Given the description of an element on the screen output the (x, y) to click on. 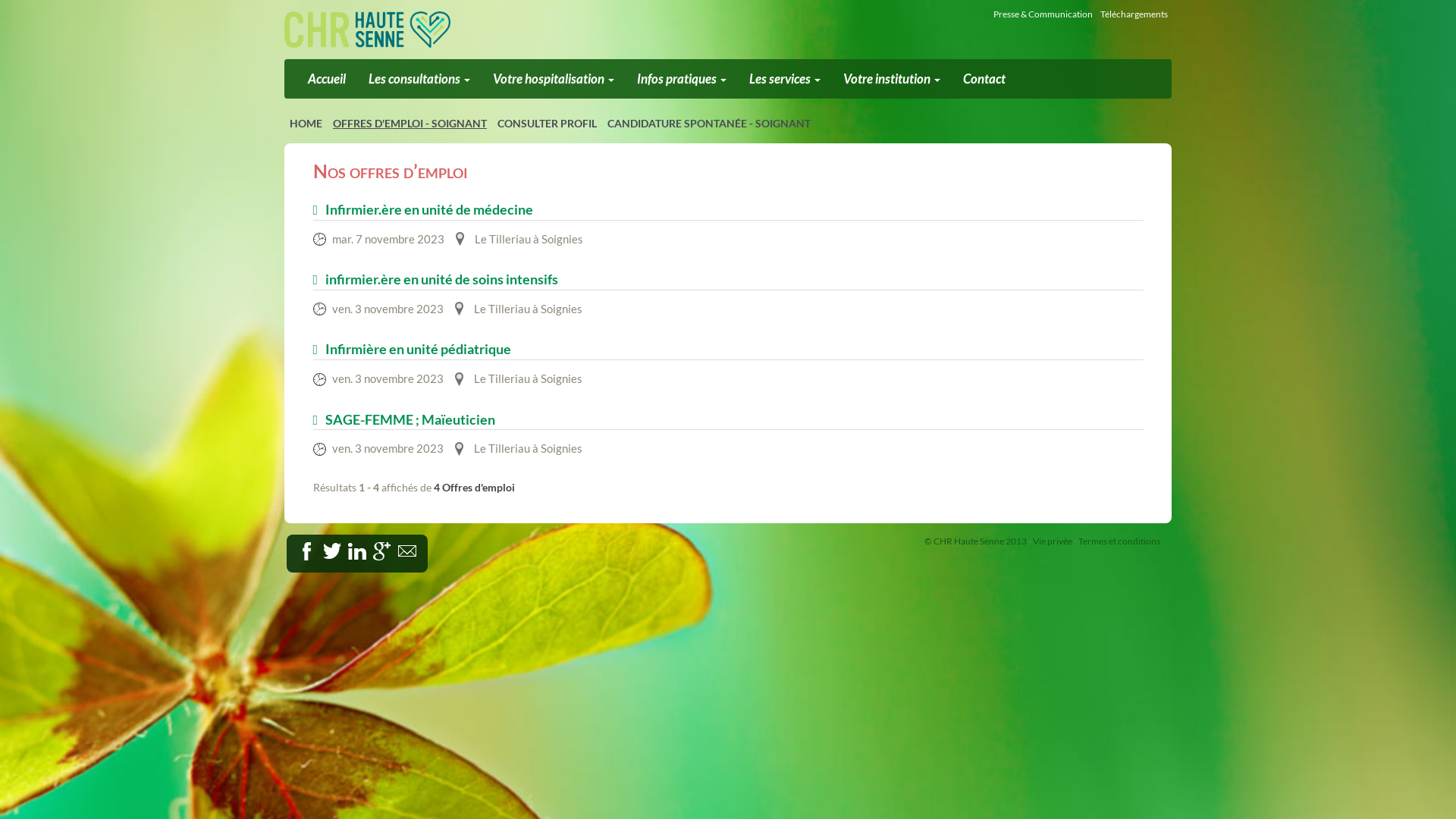
Email Element type: hover (422, 548)
Facebook Element type: hover (307, 551)
Termes et conditions Element type: text (1119, 540)
Facebook Element type: hover (322, 548)
Votre hospitalisation Element type: text (553, 78)
Twitter Element type: hover (347, 548)
HOME Element type: text (305, 123)
Contact Element type: text (983, 78)
OFFRES D'EMPLOI - SOIGNANT Element type: text (409, 123)
Tweet Element type: hover (332, 551)
Votre institution Element type: text (891, 78)
Google+ Element type: hover (382, 551)
Les consultations Element type: text (419, 78)
Accueil Element type: text (326, 78)
Google+ Element type: hover (397, 548)
Presse & Communication Element type: text (1042, 13)
Les services Element type: text (784, 78)
LinkedIn Element type: hover (357, 551)
Infos pratiques Element type: text (681, 78)
CONSULTER PROFIL Element type: text (547, 123)
4 Offres d'emploi Element type: text (473, 486)
Email Element type: hover (407, 551)
LinkedIn Element type: hover (372, 548)
